Given the description of an element on the screen output the (x, y) to click on. 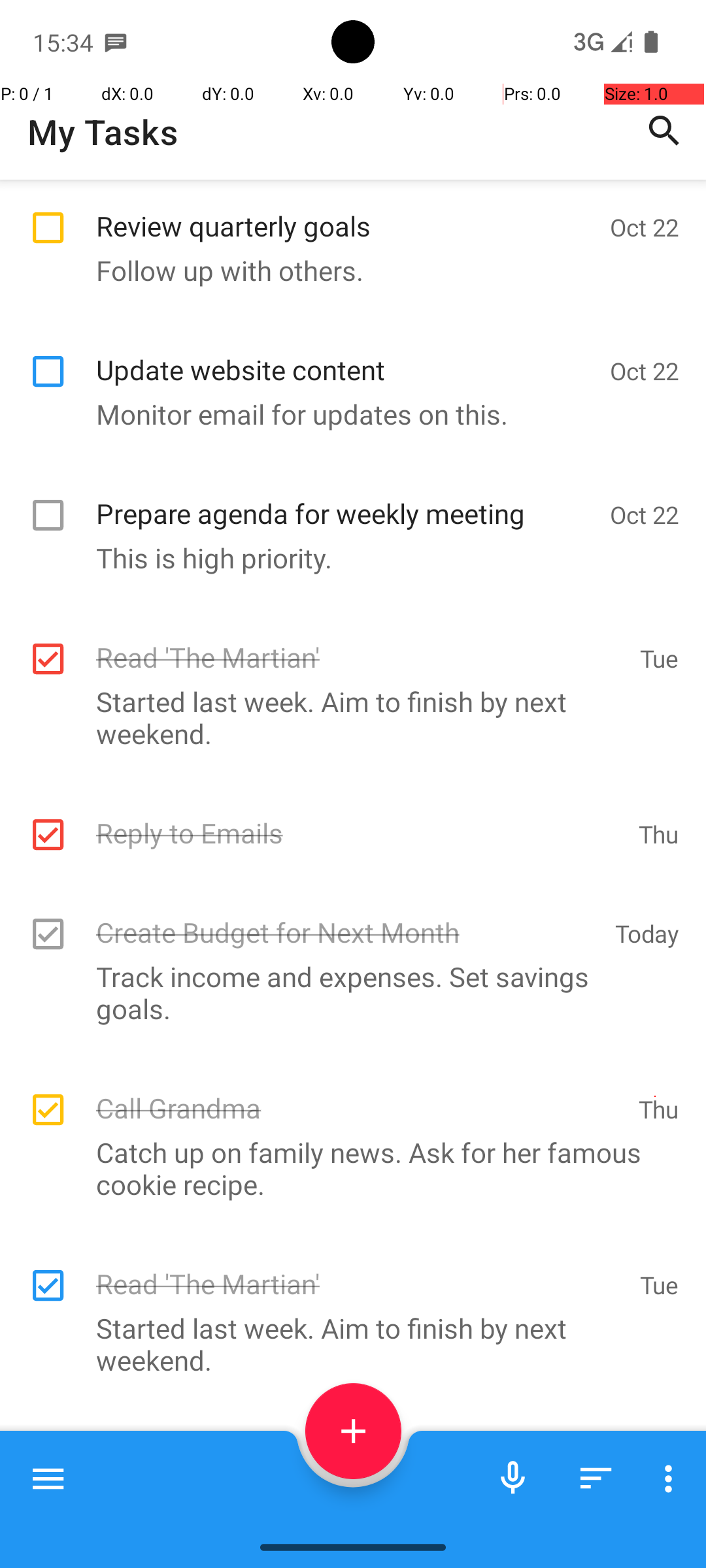
Review quarterly goals Element type: android.widget.TextView (346, 211)
Follow up with others. Element type: android.widget.TextView (346, 269)
Oct 22 Element type: android.widget.TextView (644, 226)
Update website content Element type: android.widget.TextView (346, 355)
Monitor email for updates on this. Element type: android.widget.TextView (346, 413)
Prepare agenda for weekly meeting Element type: android.widget.TextView (346, 499)
This is high priority. Element type: android.widget.TextView (346, 557)
Read 'The Martian' Element type: android.widget.TextView (361, 642)
Started last week. Aim to finish by next weekend. Element type: android.widget.TextView (346, 716)
Track income and expenses. Set savings goals. Element type: android.widget.TextView (346, 992)
Catch up on family news. Ask for her famous cookie recipe. Element type: android.widget.TextView (346, 1167)
